Given the description of an element on the screen output the (x, y) to click on. 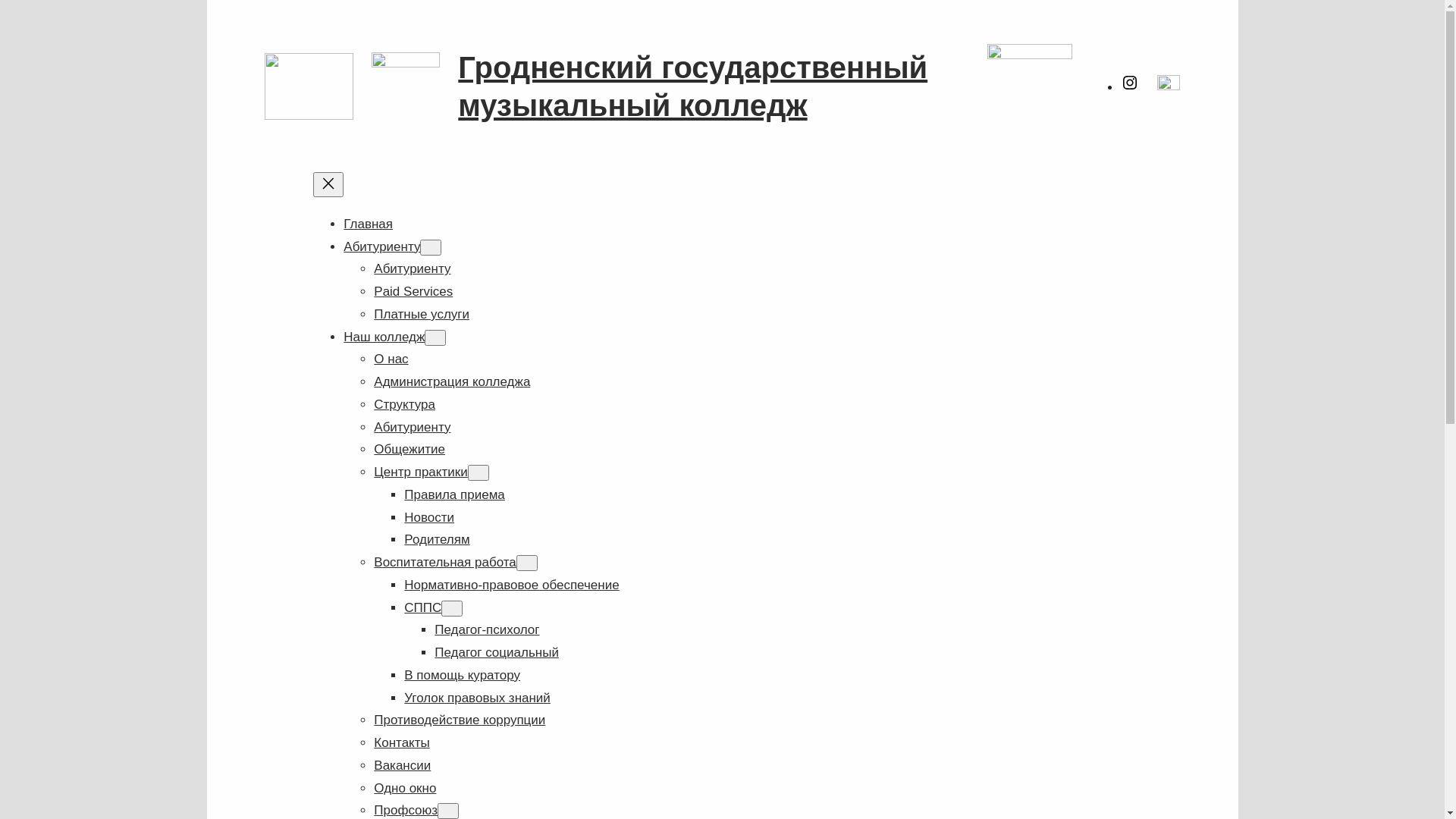
Instagram Element type: text (1129, 87)
Paid Services Element type: text (412, 291)
